Given the description of an element on the screen output the (x, y) to click on. 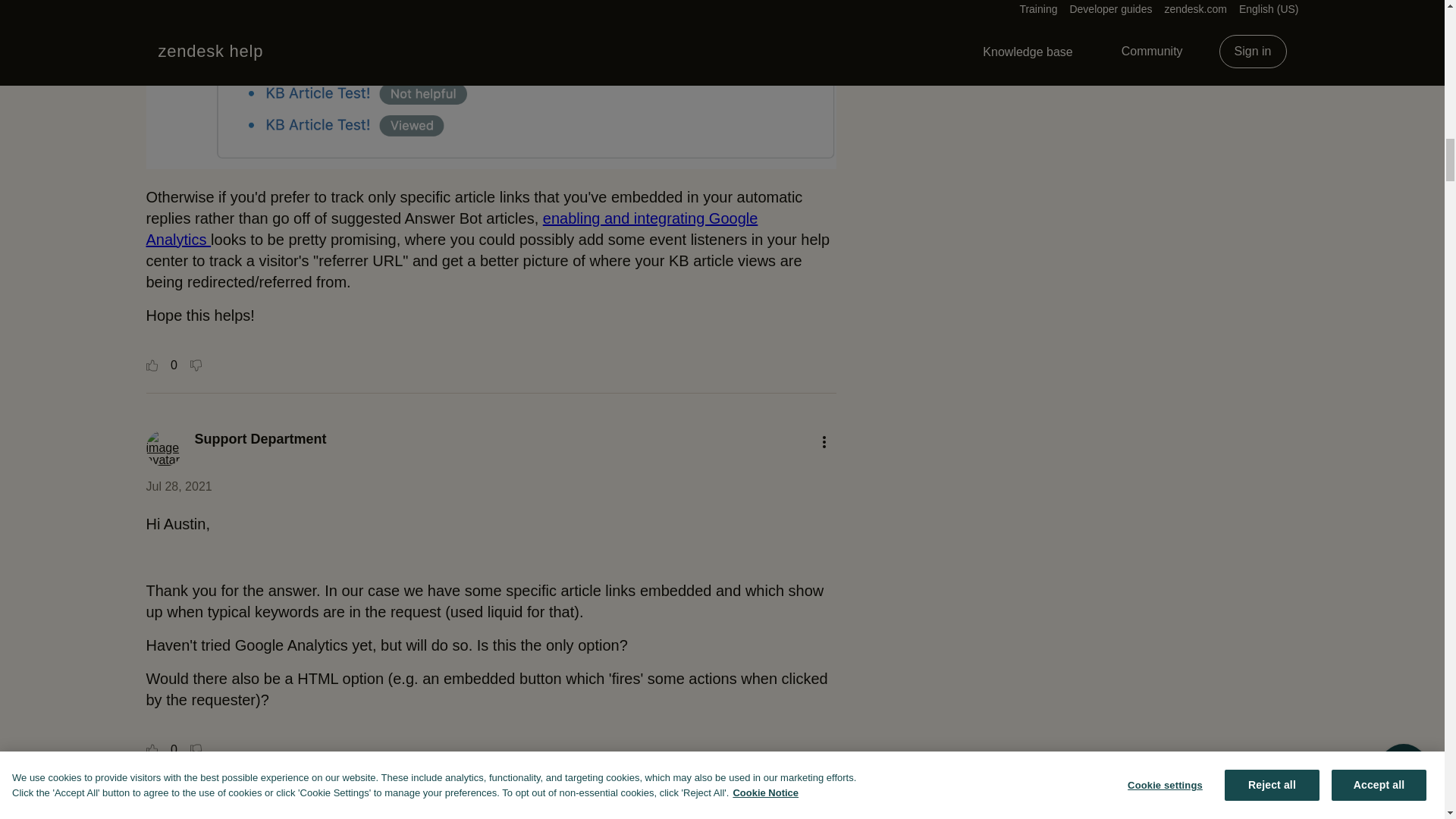
Jul 28, 2021 (178, 486)
